Given the description of an element on the screen output the (x, y) to click on. 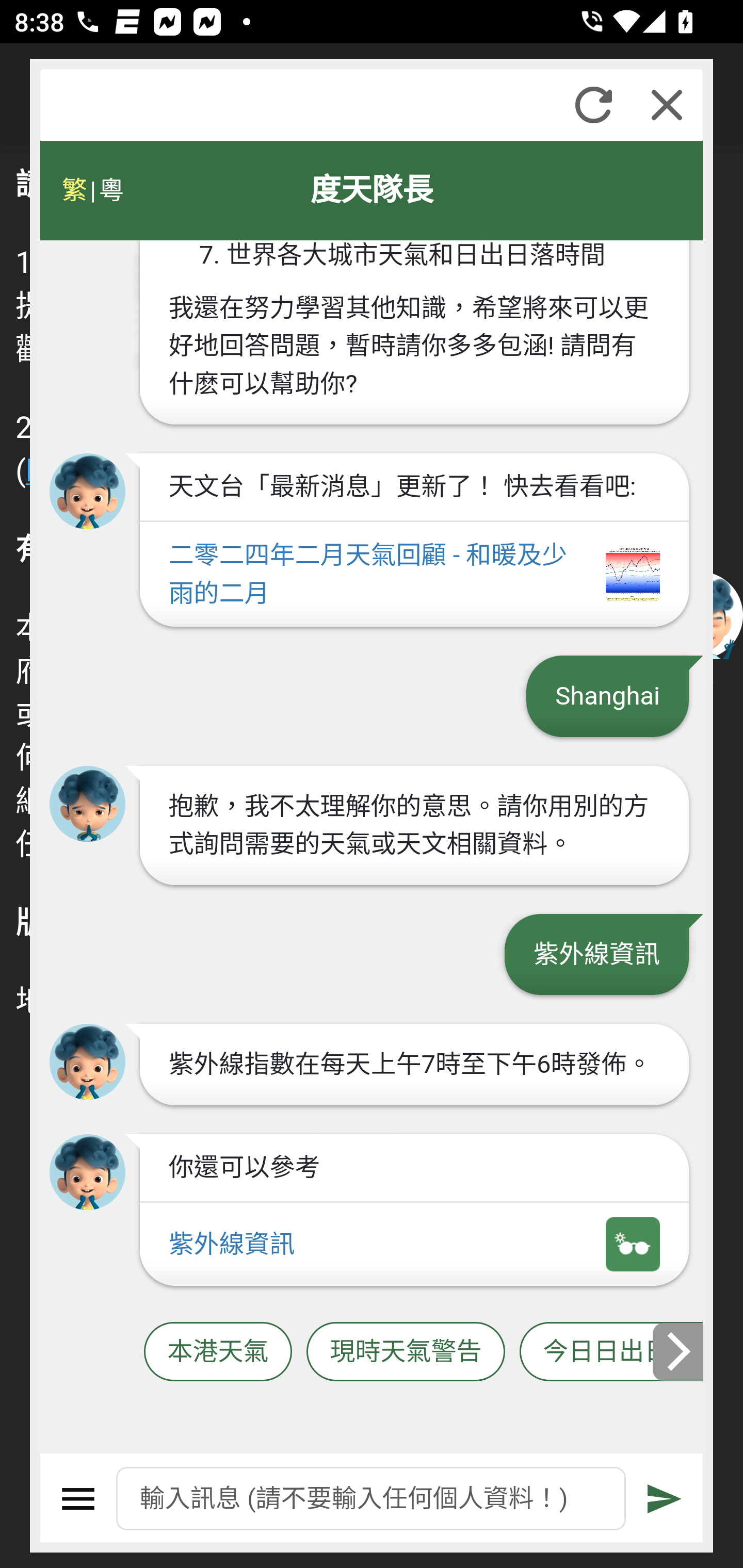
重新整理 (593, 104)
關閉 (666, 104)
繁 (73, 190)
粵 (110, 190)
二零二四年二月天氣回顧 - 和暖及少雨的二月 (413, 575)
紫外線資訊 (413, 1244)
本港天氣 (217, 1351)
現時天氣警告 (405, 1351)
今日日出日落時間 (611, 1351)
下一張 (678, 1351)
選單 (78, 1498)
遞交 (665, 1498)
